Given the description of an element on the screen output the (x, y) to click on. 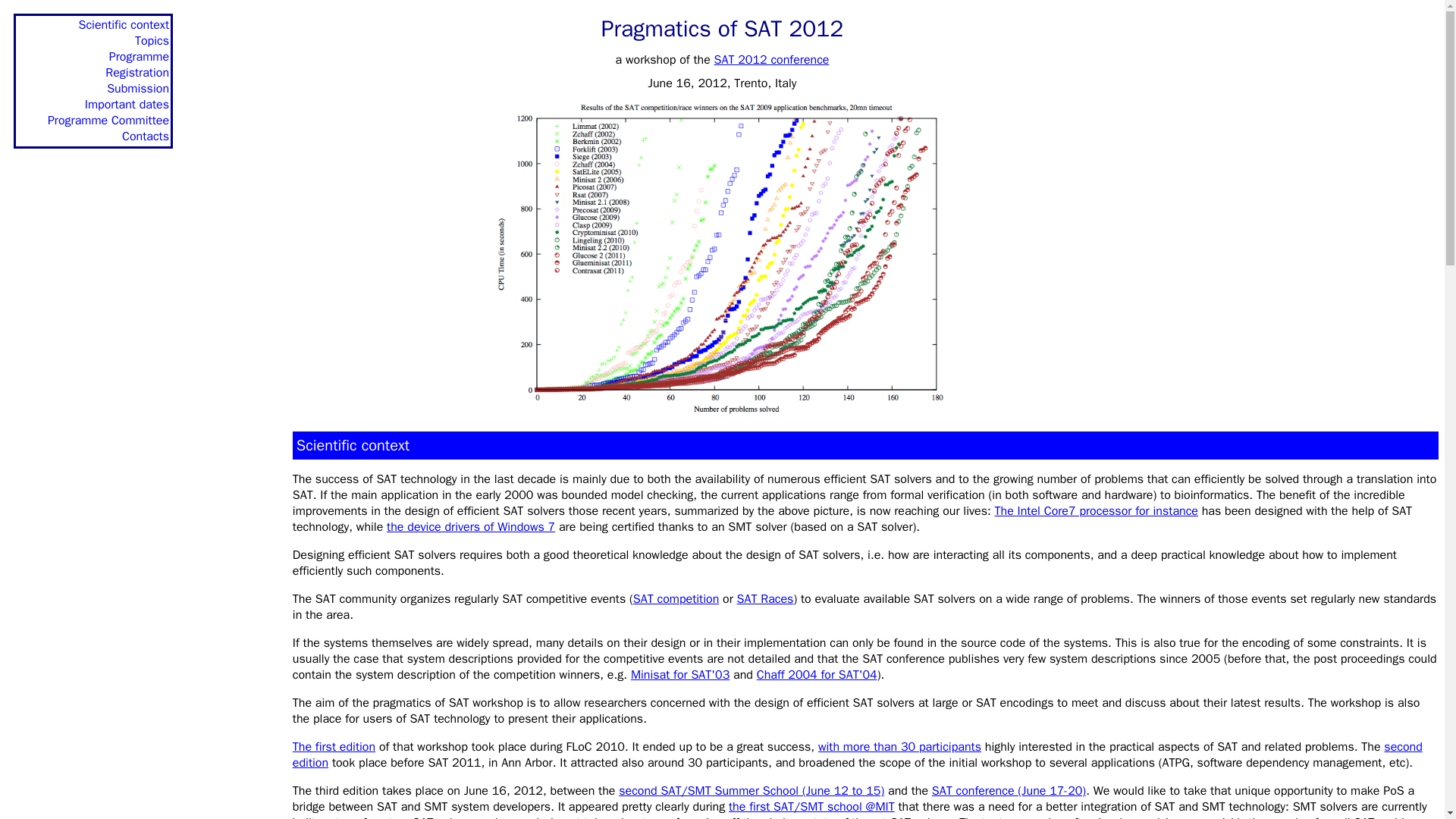
second edition (857, 754)
Scientific context (123, 24)
SAT competition (676, 598)
The first edition (333, 746)
Minisat for SAT'03 (679, 674)
Important dates (126, 104)
the device drivers of Windows 7 (470, 526)
Registration (136, 72)
Chaff 2004 for SAT'04 (817, 674)
